Given the description of an element on the screen output the (x, y) to click on. 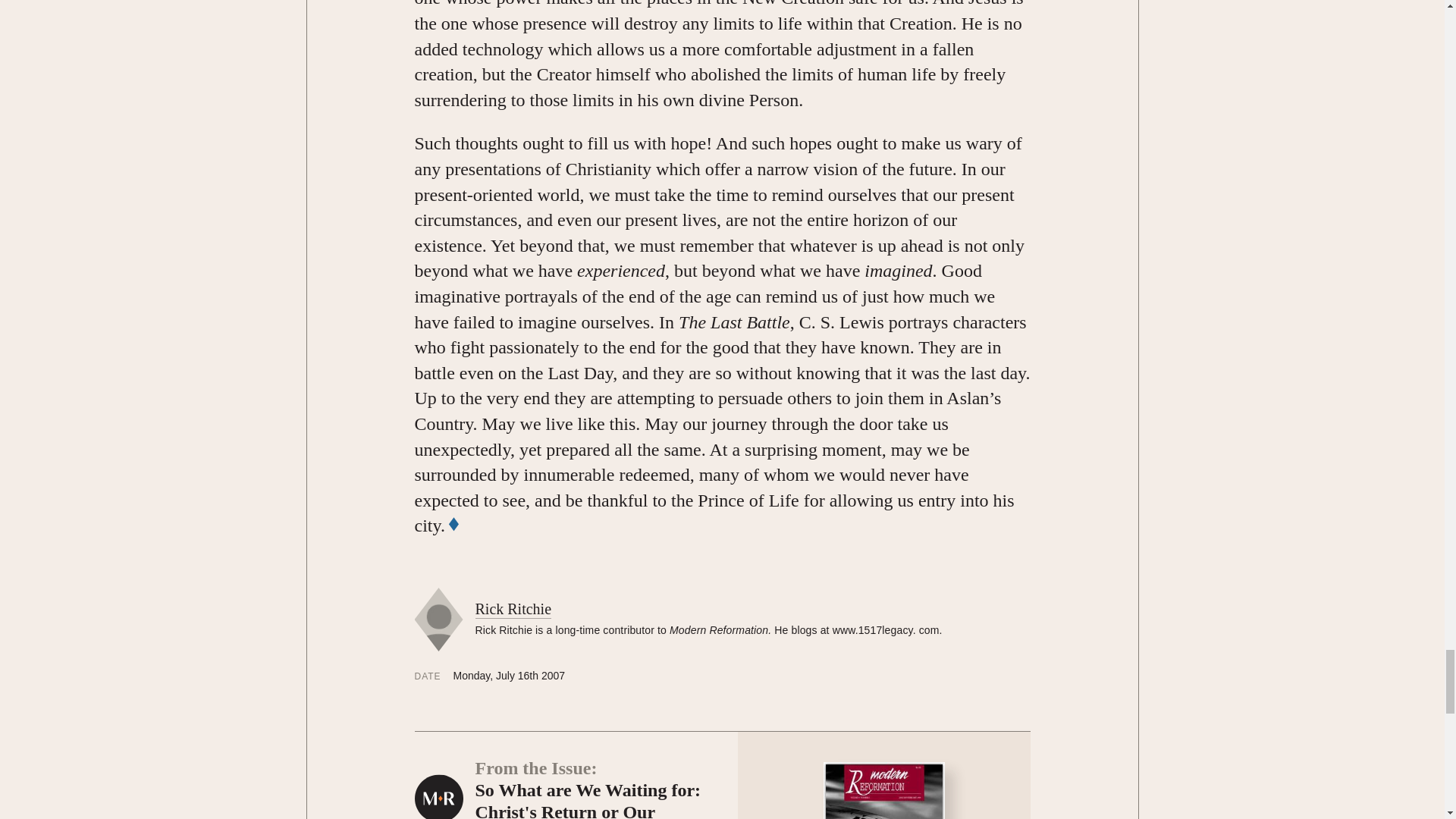
Rick Ritchie (512, 609)
